Given the description of an element on the screen output the (x, y) to click on. 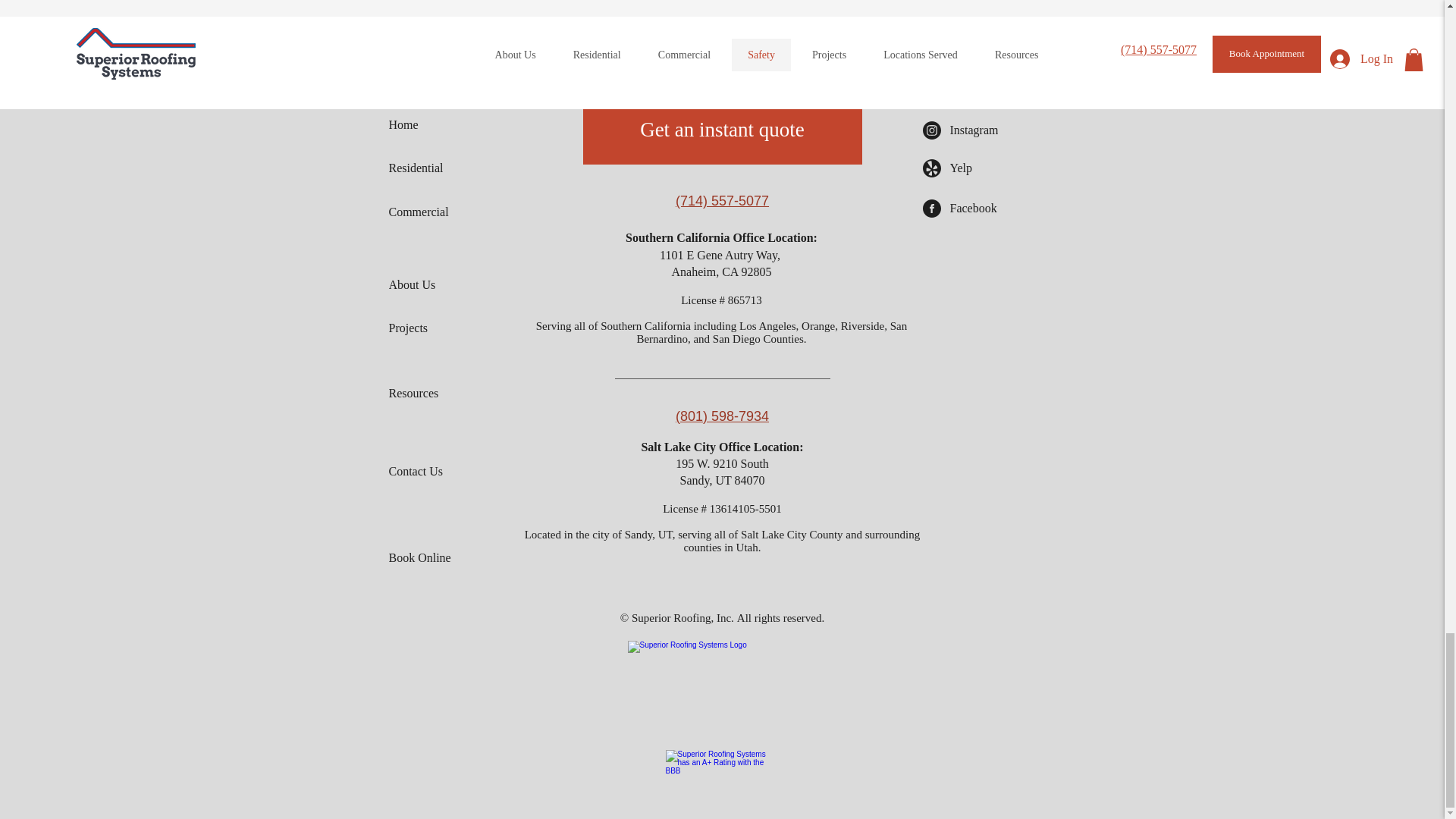
Home (721, 681)
